Given the description of an element on the screen output the (x, y) to click on. 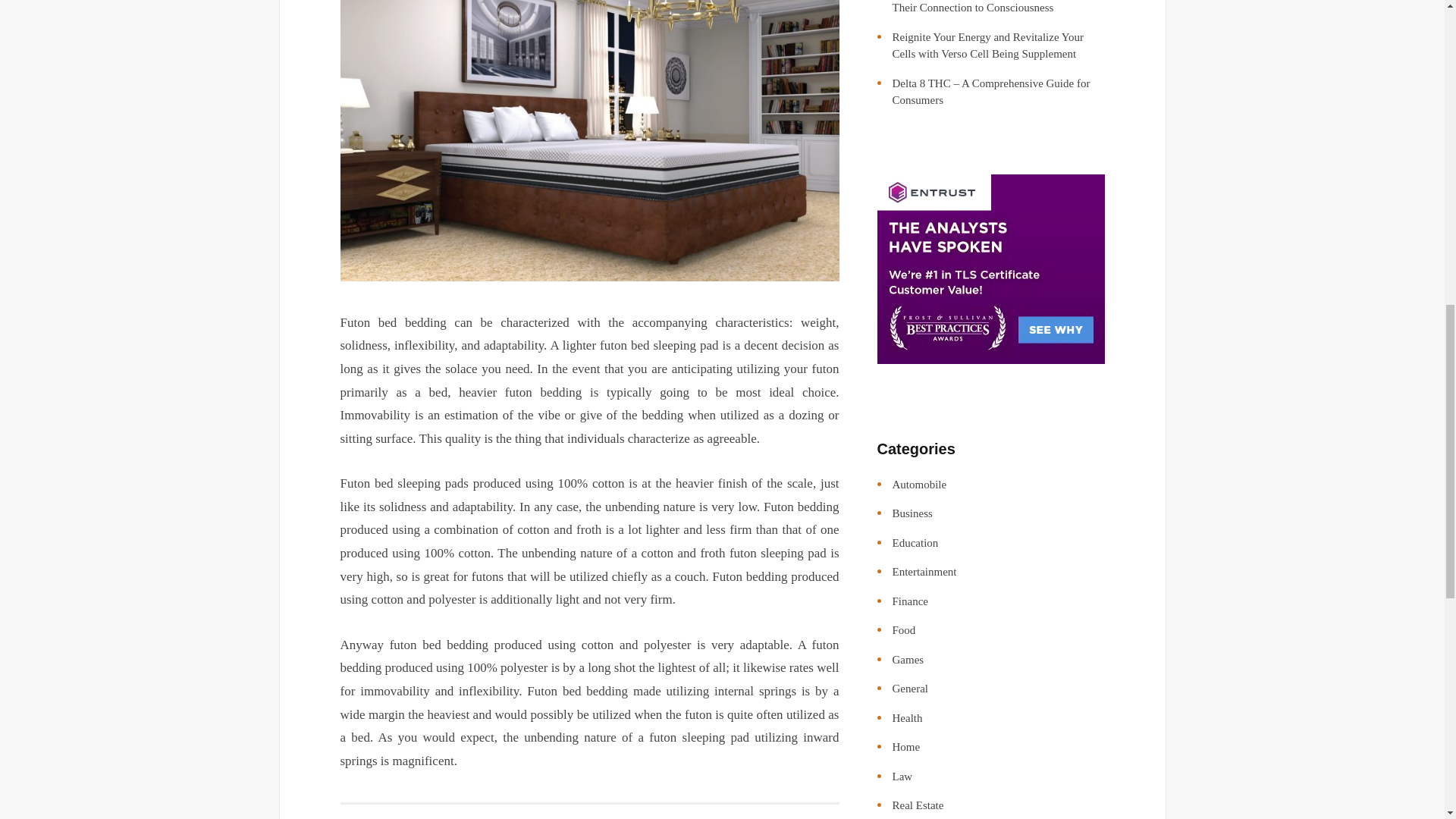
Entertainment (923, 571)
Games (907, 659)
Finance (909, 601)
Home (905, 746)
Food (903, 630)
Education (914, 542)
Business (911, 512)
Real Estate (917, 805)
Automobile (918, 484)
Health (906, 717)
